Given the description of an element on the screen output the (x, y) to click on. 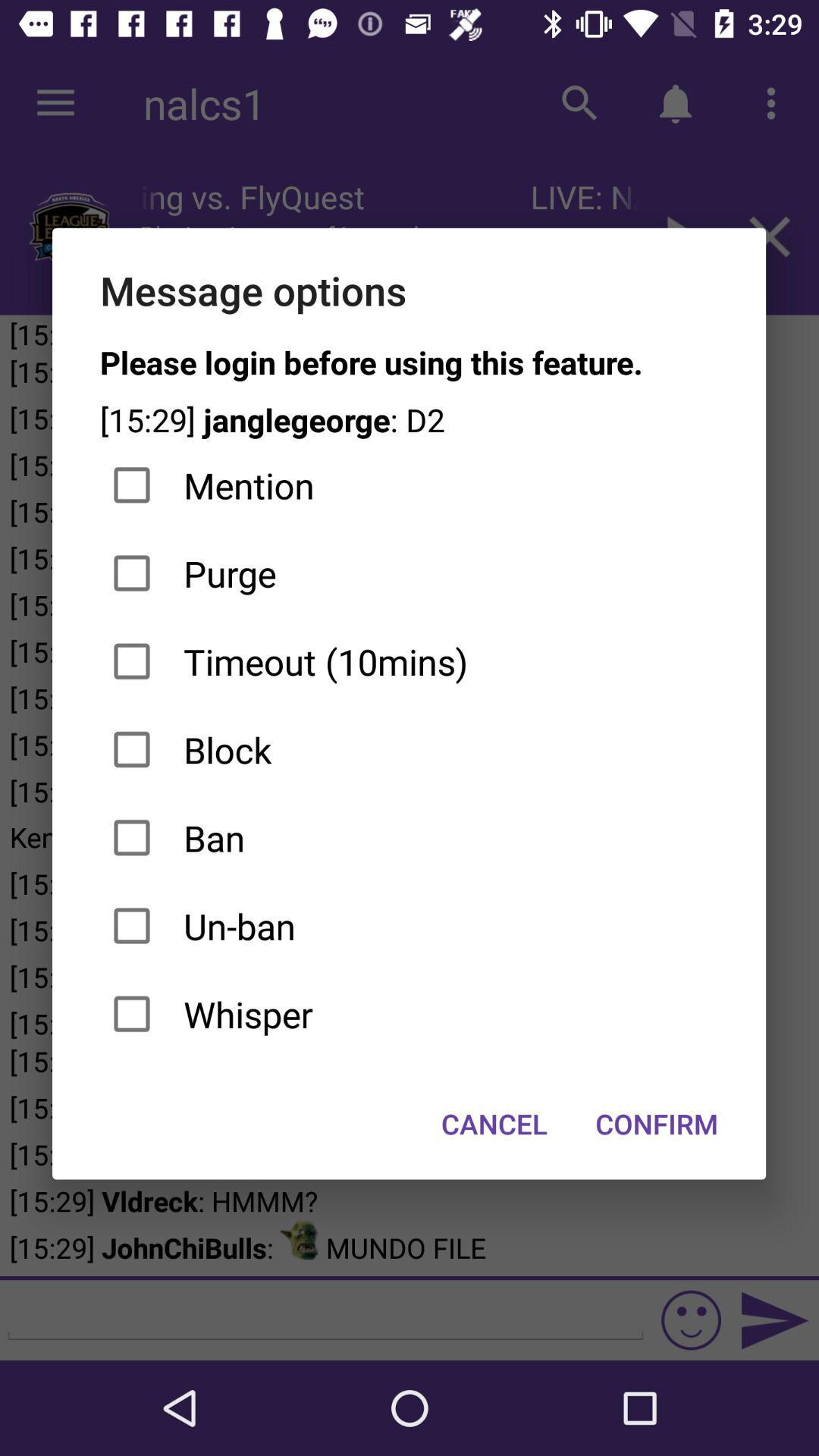
click the whisper checkbox (409, 1014)
